Given the description of an element on the screen output the (x, y) to click on. 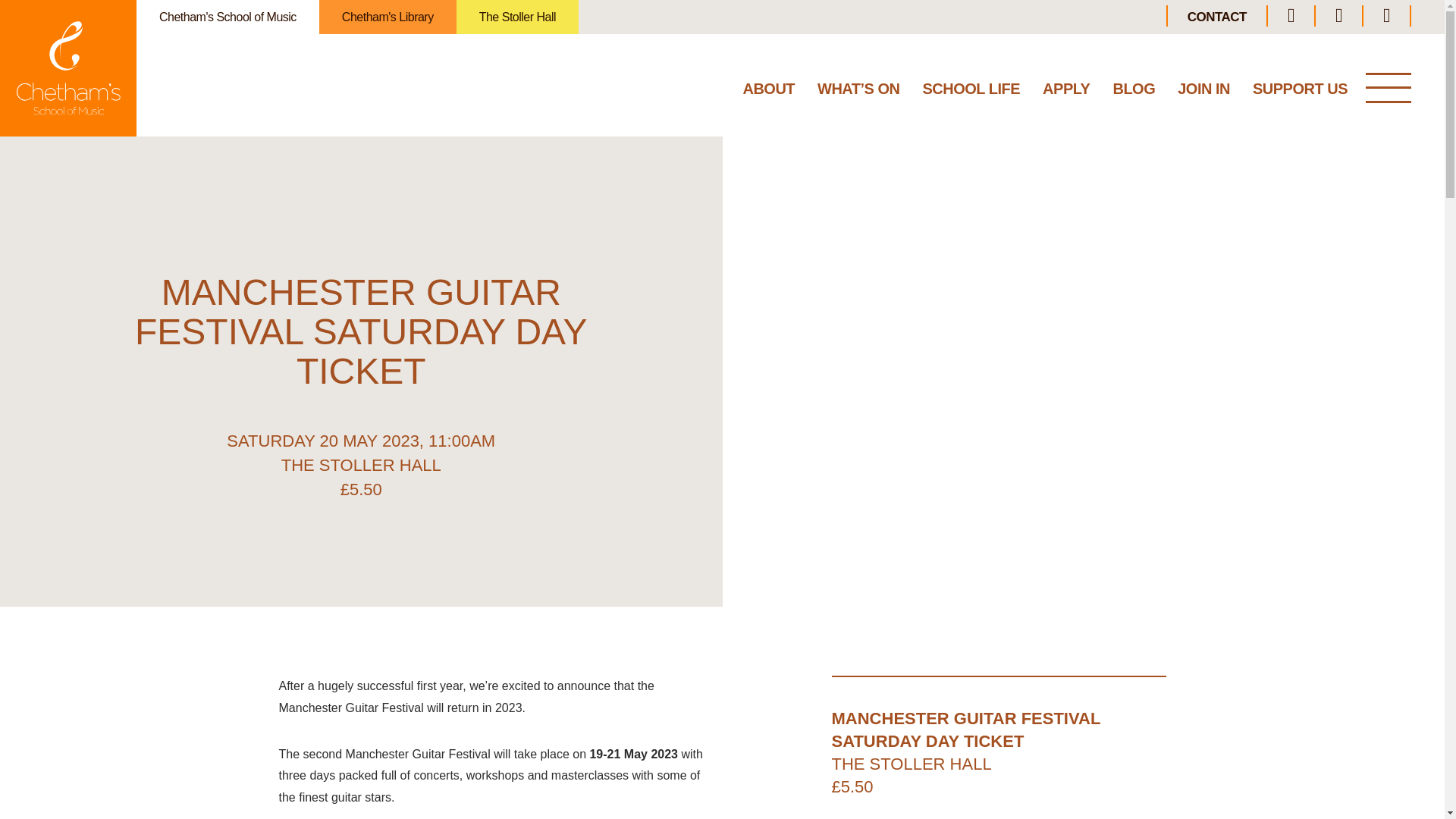
Chetham's School of Music (227, 16)
CONTACT (1217, 16)
The Stoller Hall (517, 16)
Chetham's School of Music (68, 68)
Chetham's Library (387, 16)
ABOUT (768, 91)
SCHOOL LIFE (970, 91)
